Given the description of an element on the screen output the (x, y) to click on. 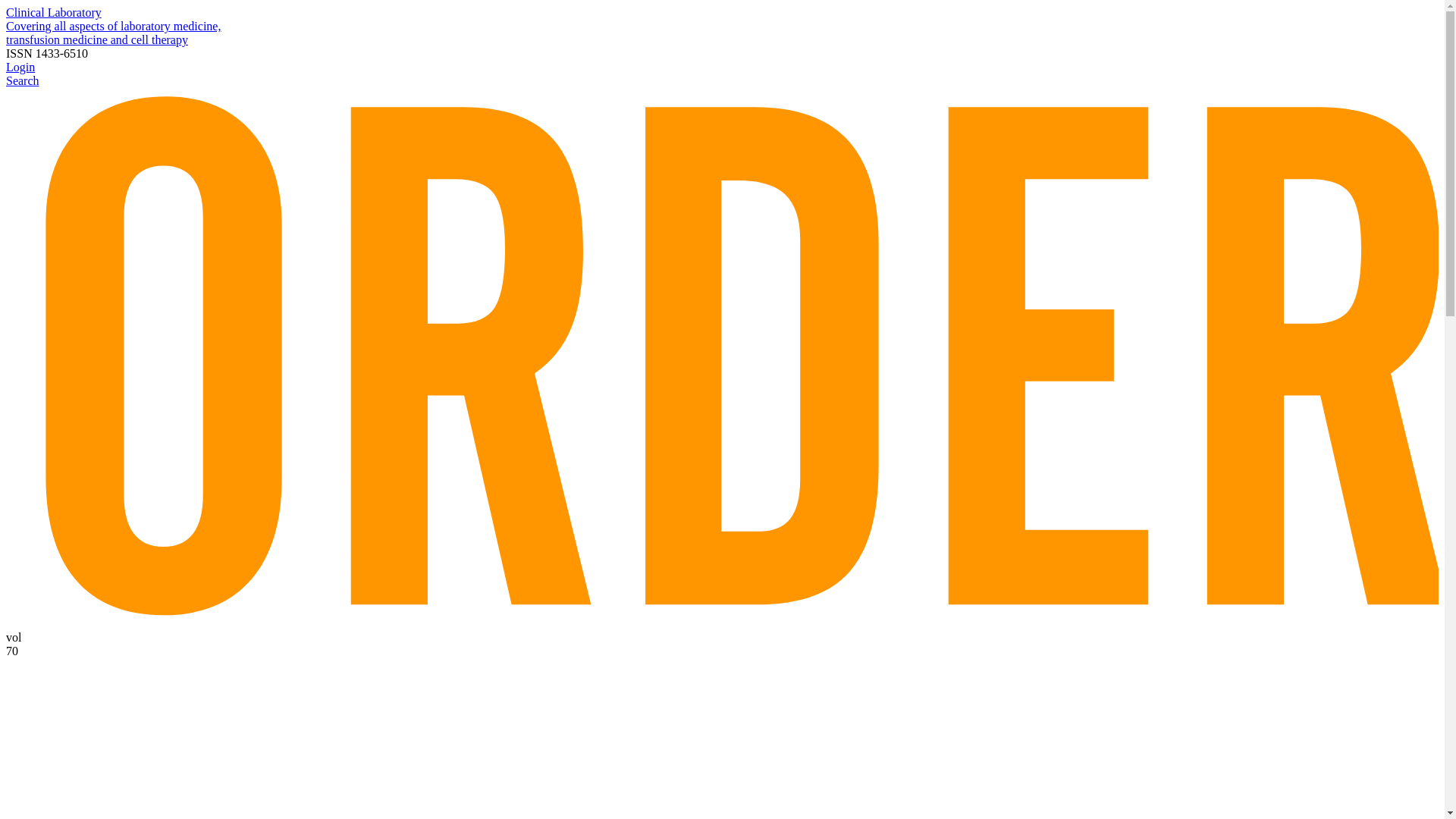
Search (22, 80)
Login (19, 66)
